Given the description of an element on the screen output the (x, y) to click on. 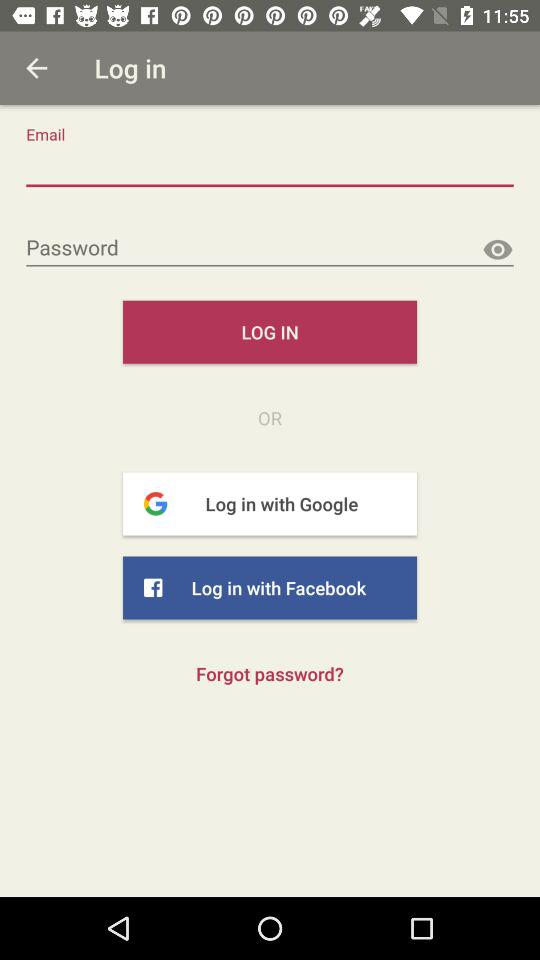
select the mailbox (270, 168)
